Given the description of an element on the screen output the (x, y) to click on. 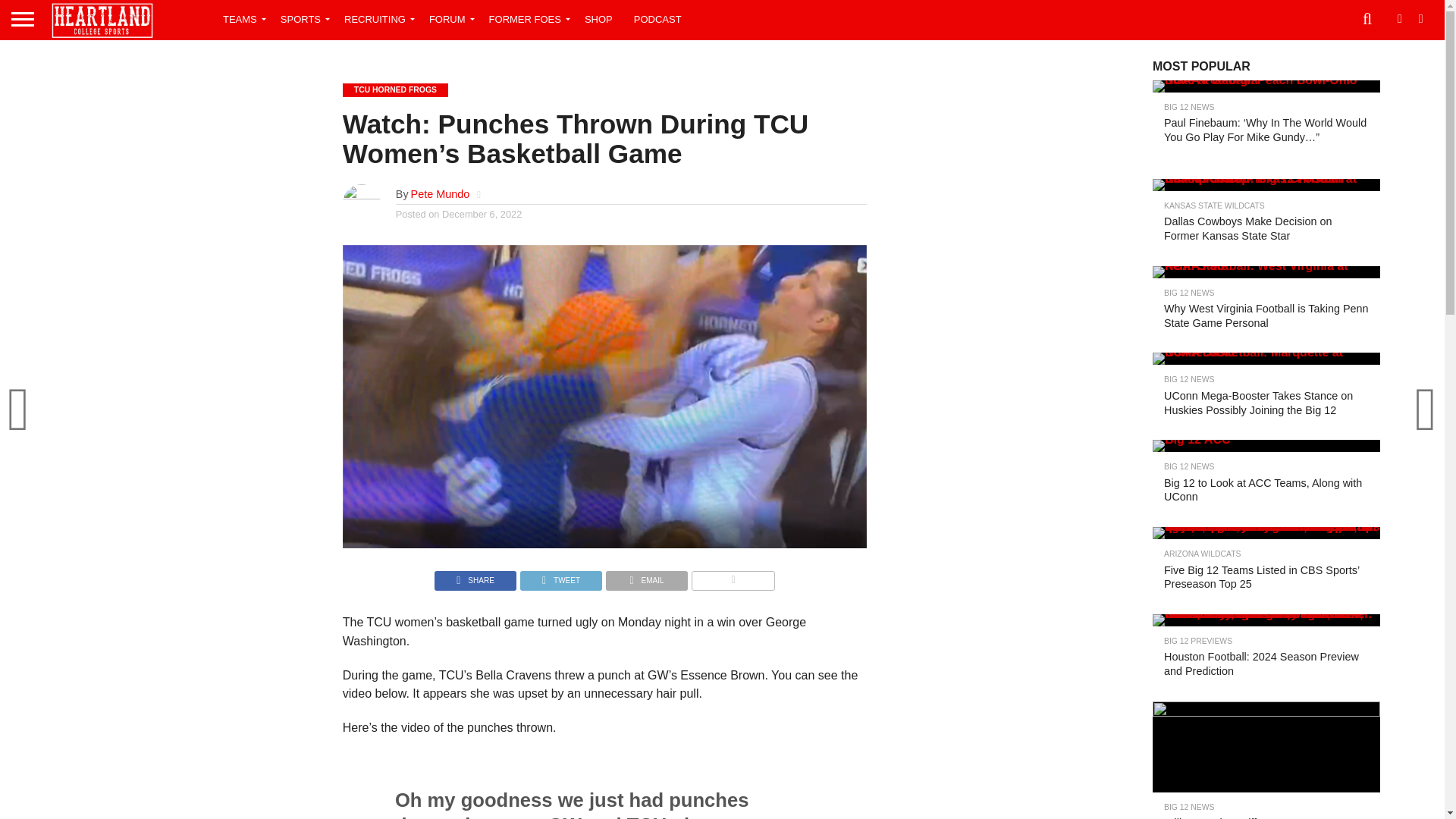
Share on Facebook (474, 576)
Members Forum (449, 18)
Tweet This Post (560, 576)
Posts by Pete Mundo (440, 193)
